Given the description of an element on the screen output the (x, y) to click on. 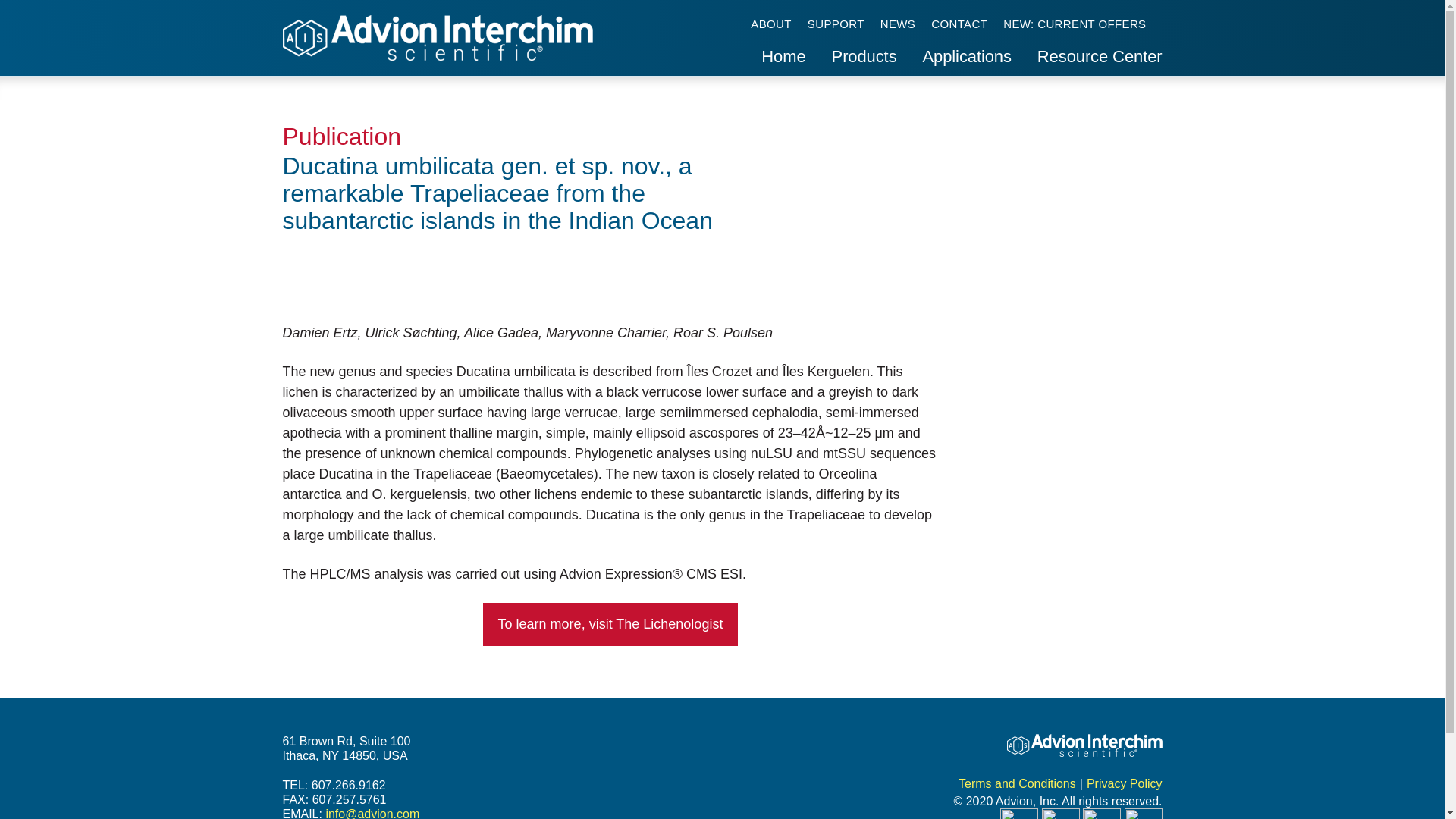
NEWS (897, 24)
To learn more, visit The Lichenologist (610, 624)
NEW: CURRENT OFFERS (1074, 24)
Resource Center (1098, 62)
SUPPORT (836, 24)
ABOUT (771, 24)
To learn more, visit The Lichenologist (610, 623)
Privacy Policy (1123, 783)
Products (863, 62)
Home (783, 62)
